Given the description of an element on the screen output the (x, y) to click on. 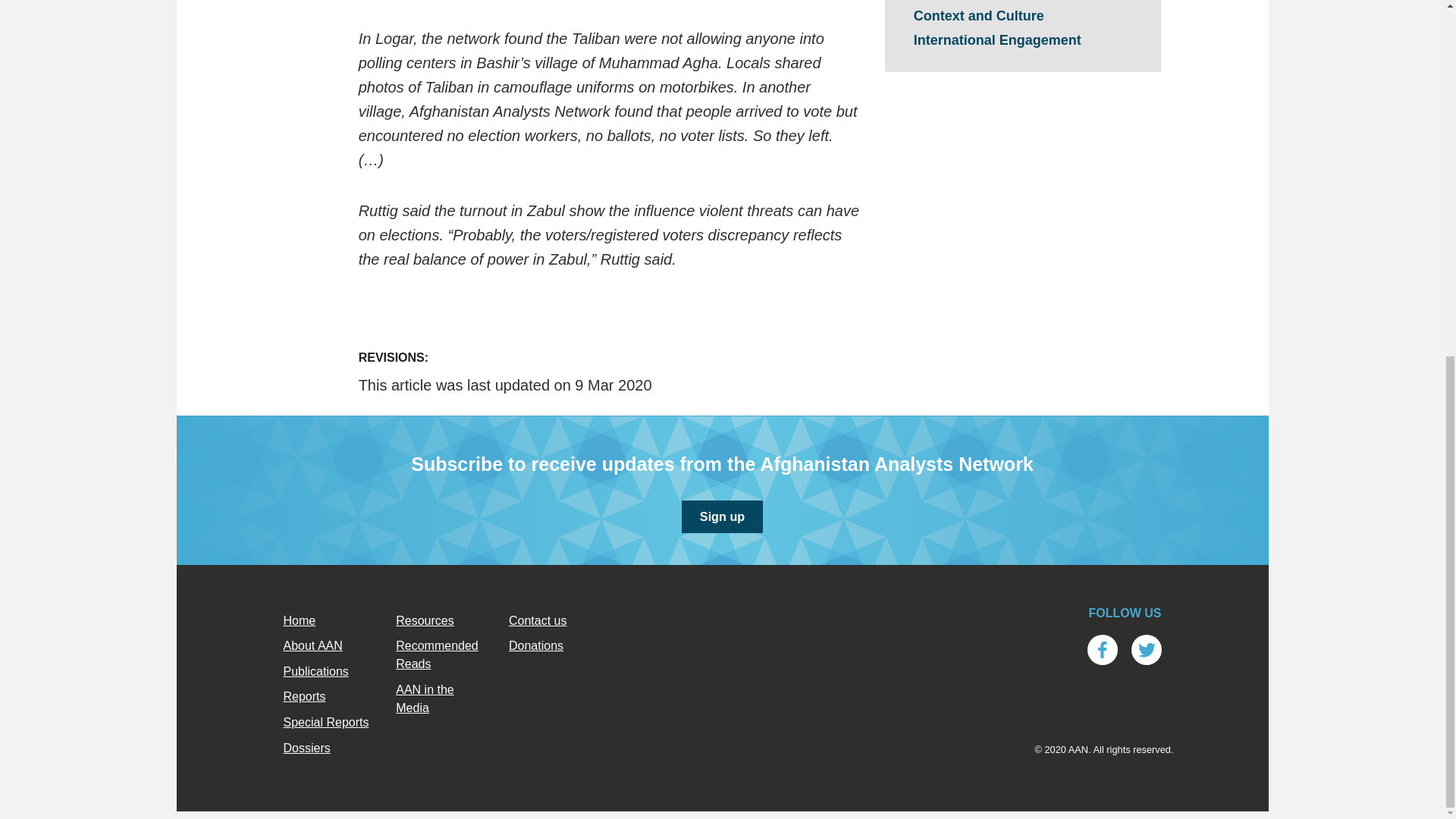
Sign up (721, 516)
